Given the description of an element on the screen output the (x, y) to click on. 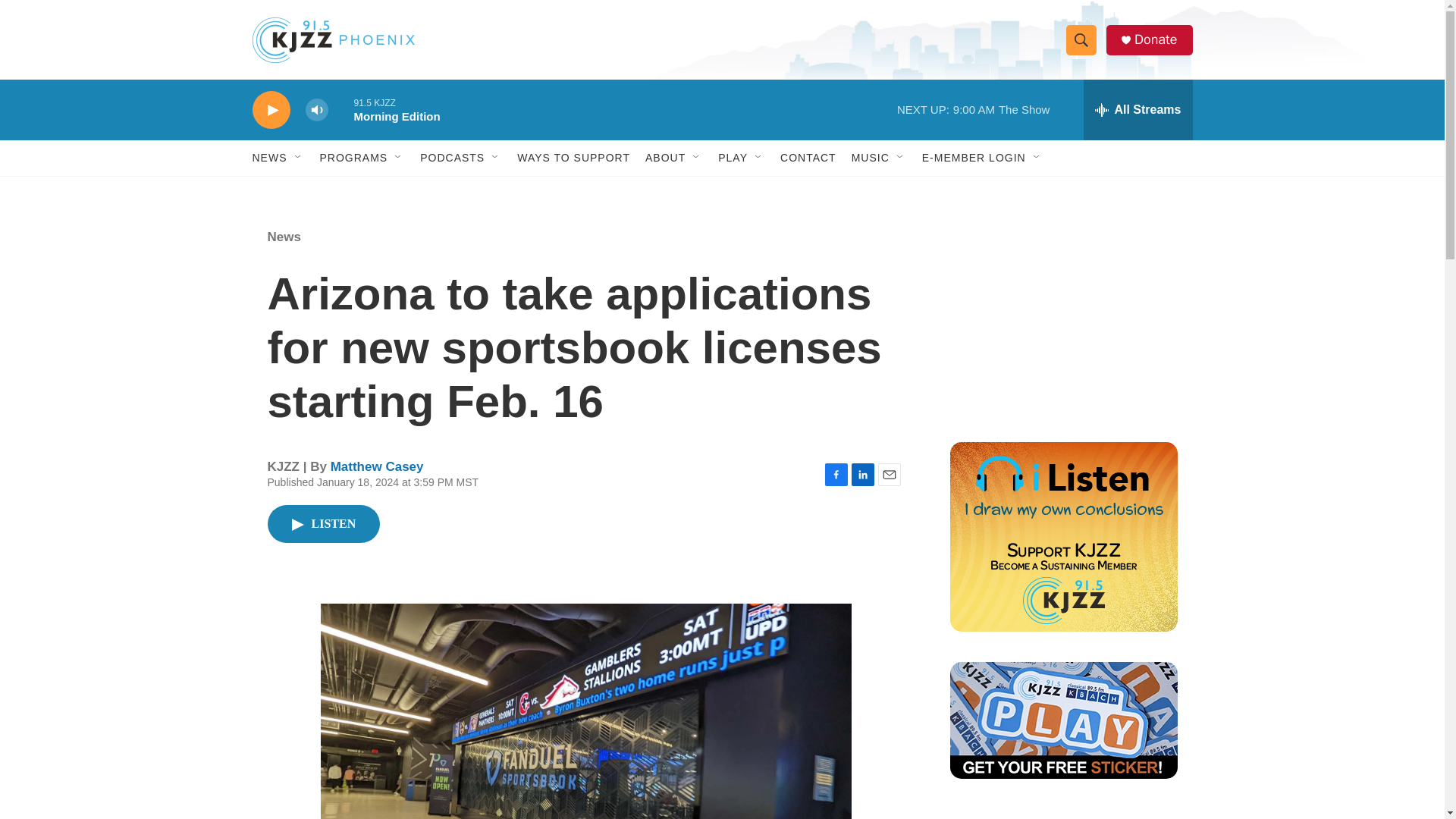
3rd party ad content (1062, 814)
3rd party ad content (1062, 316)
